Given the description of an element on the screen output the (x, y) to click on. 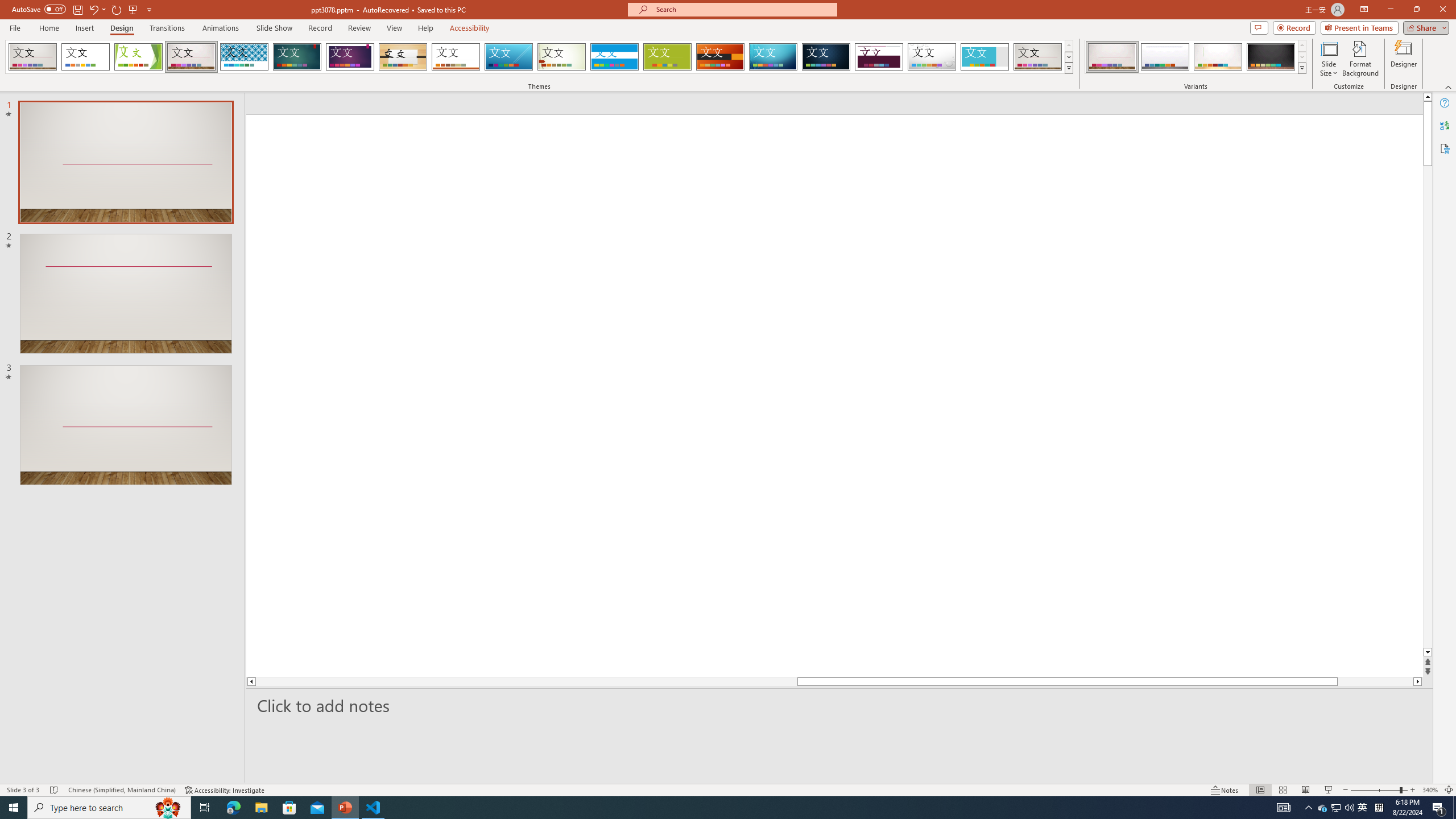
Frame (984, 56)
An abstract genetic concept (834, 395)
Office Theme (85, 56)
